Given the description of an element on the screen output the (x, y) to click on. 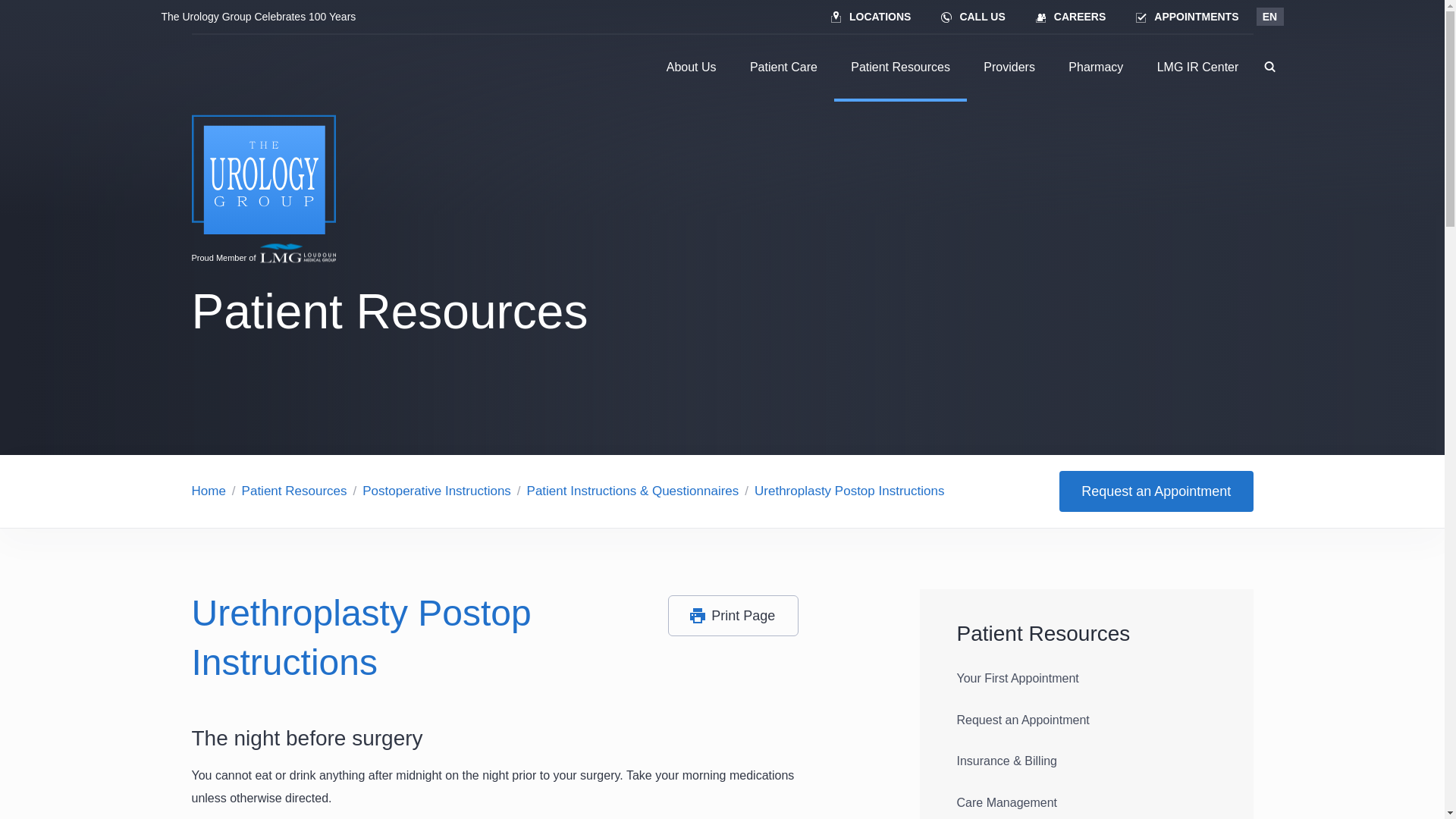
EN (1268, 16)
The Urology Group Celebrates 100 Years (257, 16)
LOCATIONS (870, 16)
CALL US (973, 16)
CAREERS (1070, 16)
APPOINTMENTS (1187, 16)
About Us (691, 67)
